Given the description of an element on the screen output the (x, y) to click on. 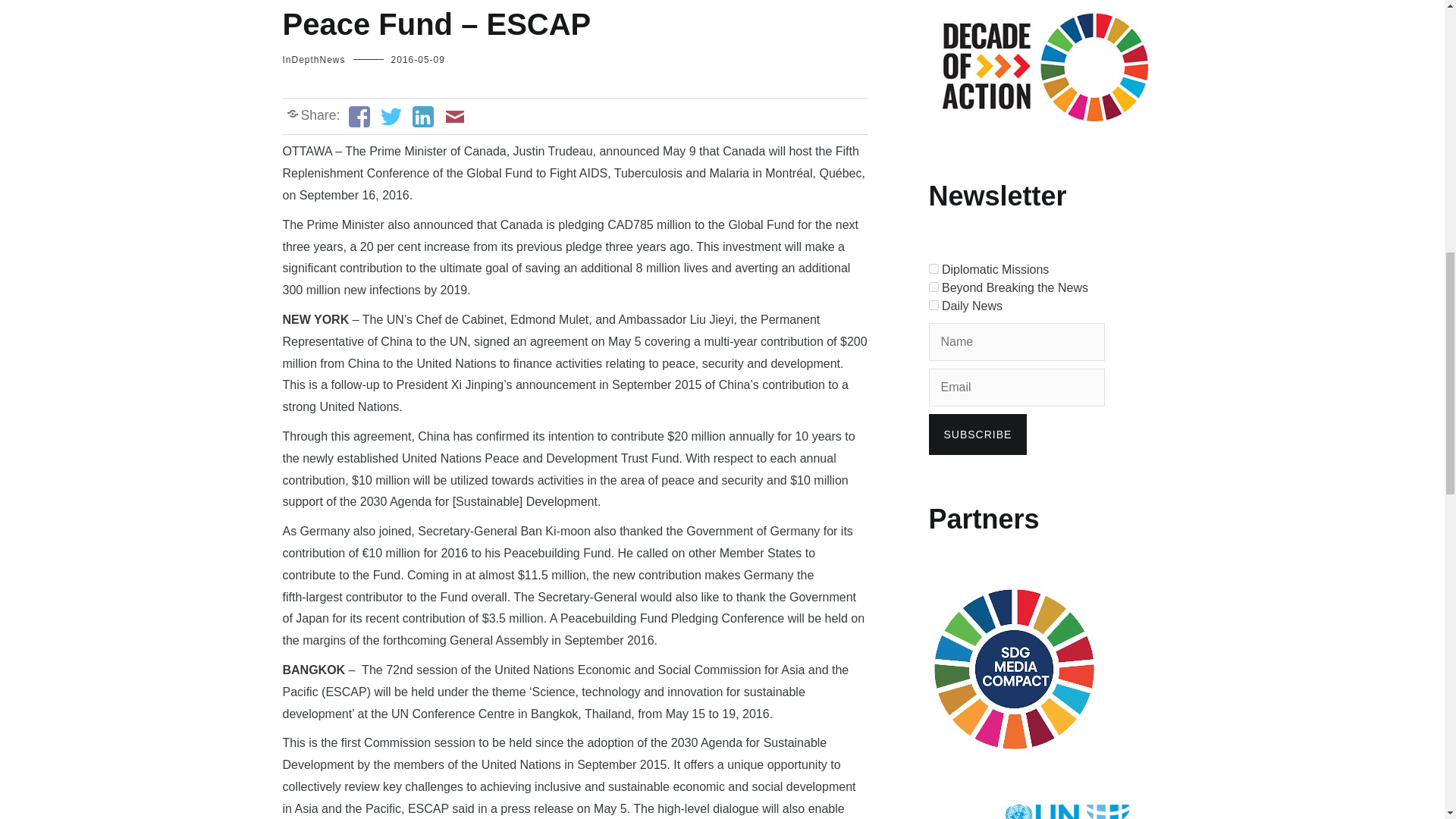
10 (932, 305)
9 (932, 286)
Subscribe (977, 434)
8 (932, 268)
